Given the description of an element on the screen output the (x, y) to click on. 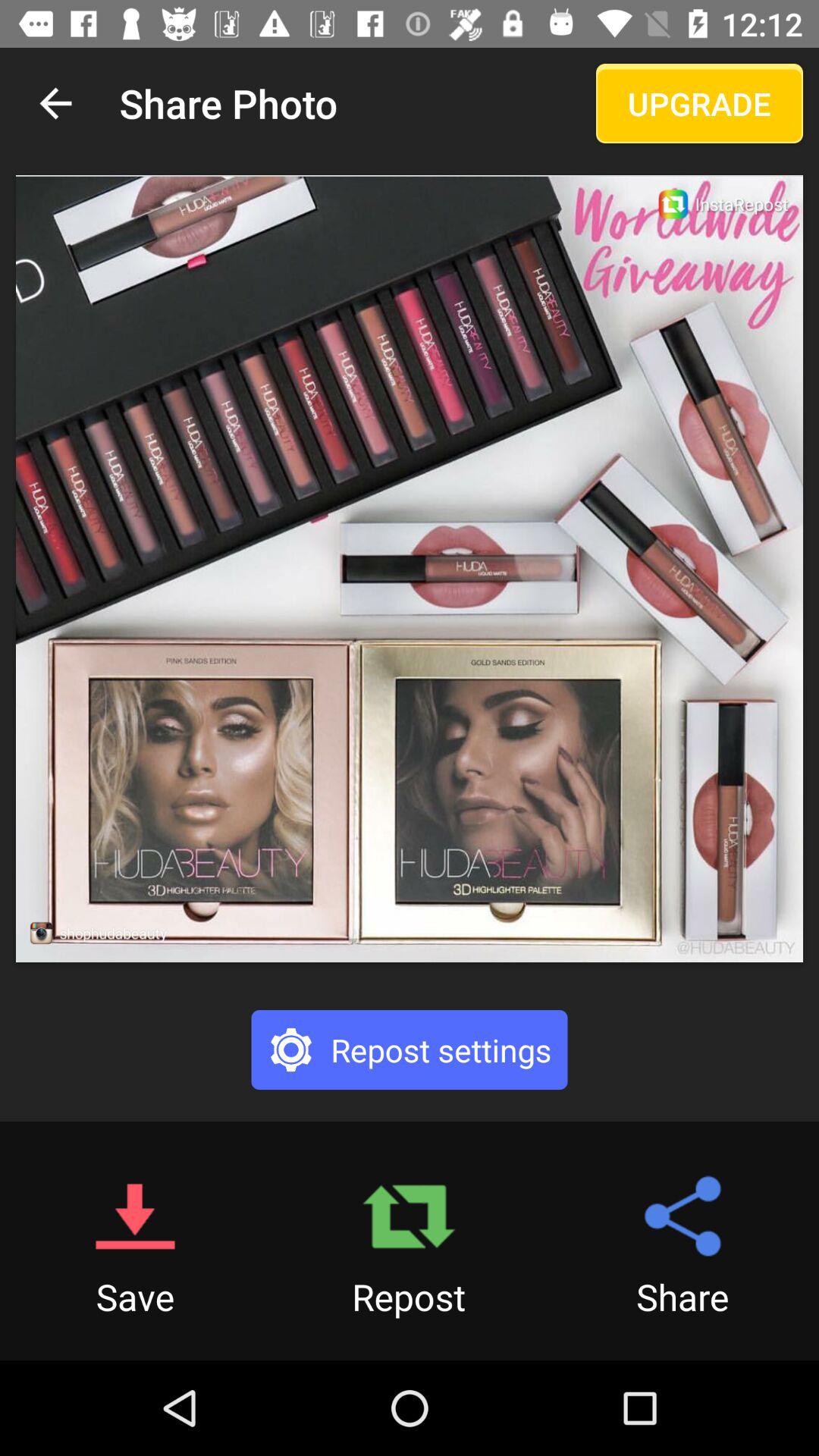
choose icon next to the share photo item (699, 103)
